Given the description of an element on the screen output the (x, y) to click on. 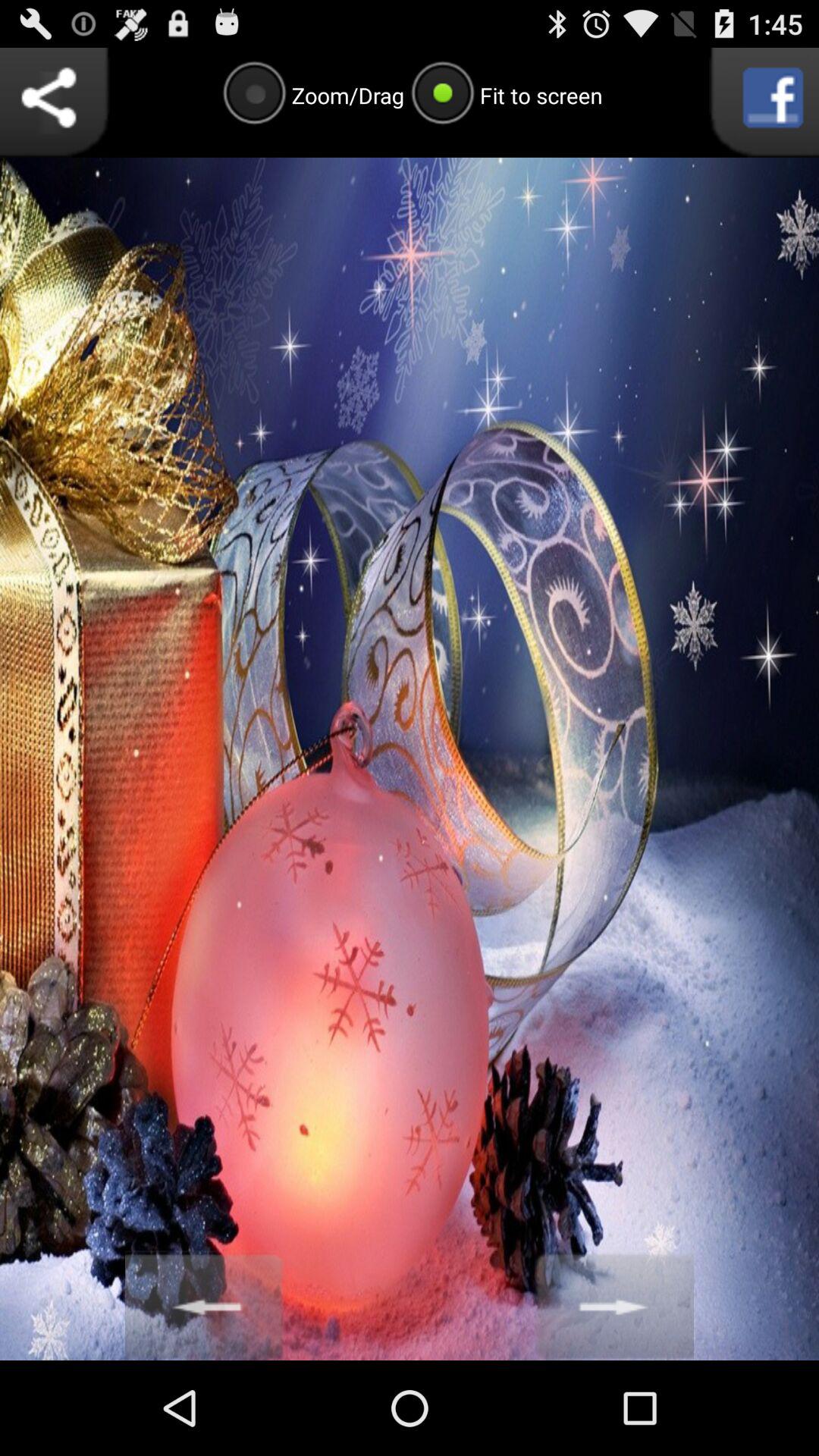
share the image (54, 102)
